Given the description of an element on the screen output the (x, y) to click on. 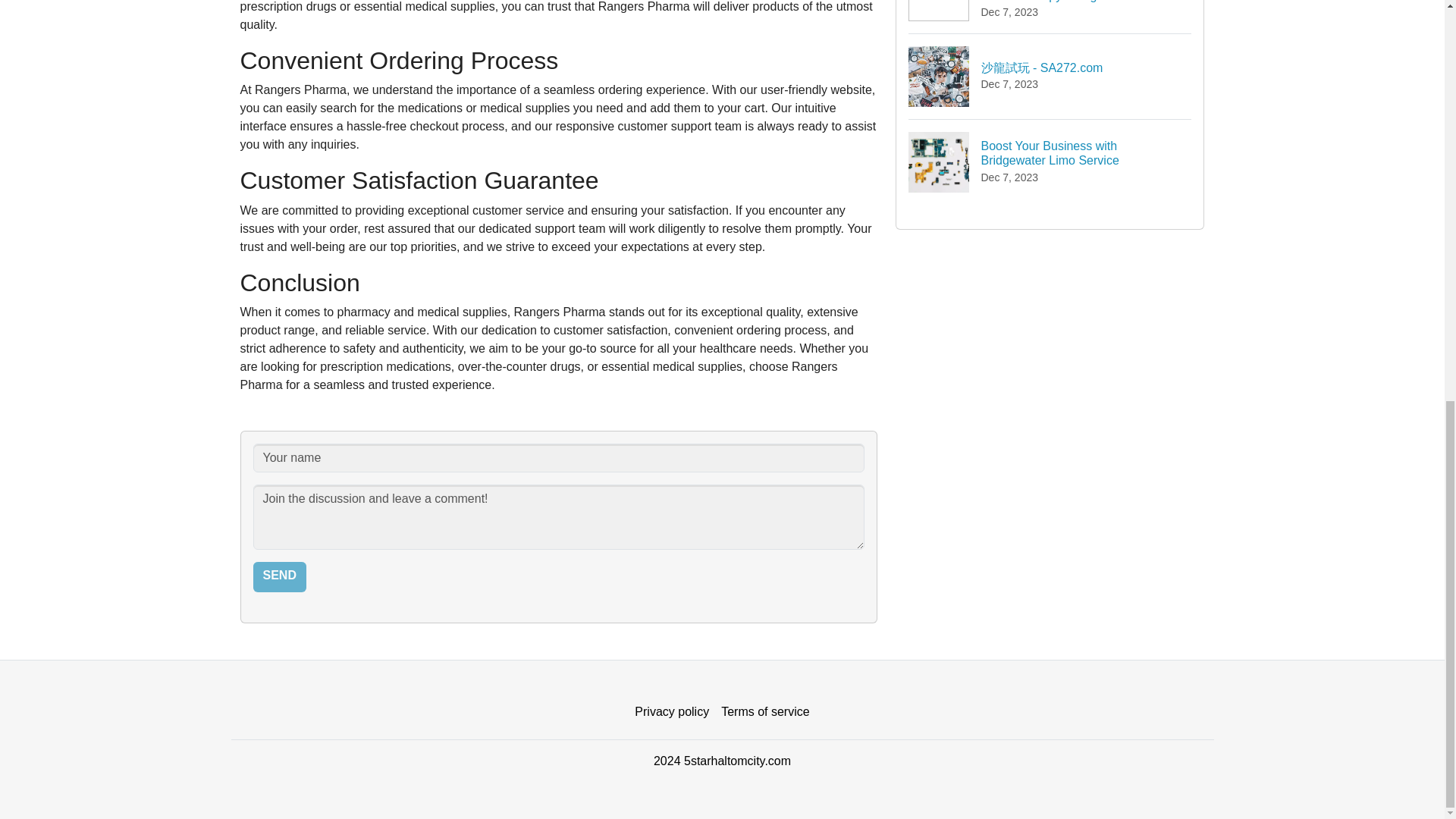
Send (279, 576)
Send (279, 576)
Privacy policy (671, 711)
Terms of service (764, 711)
